Given the description of an element on the screen output the (x, y) to click on. 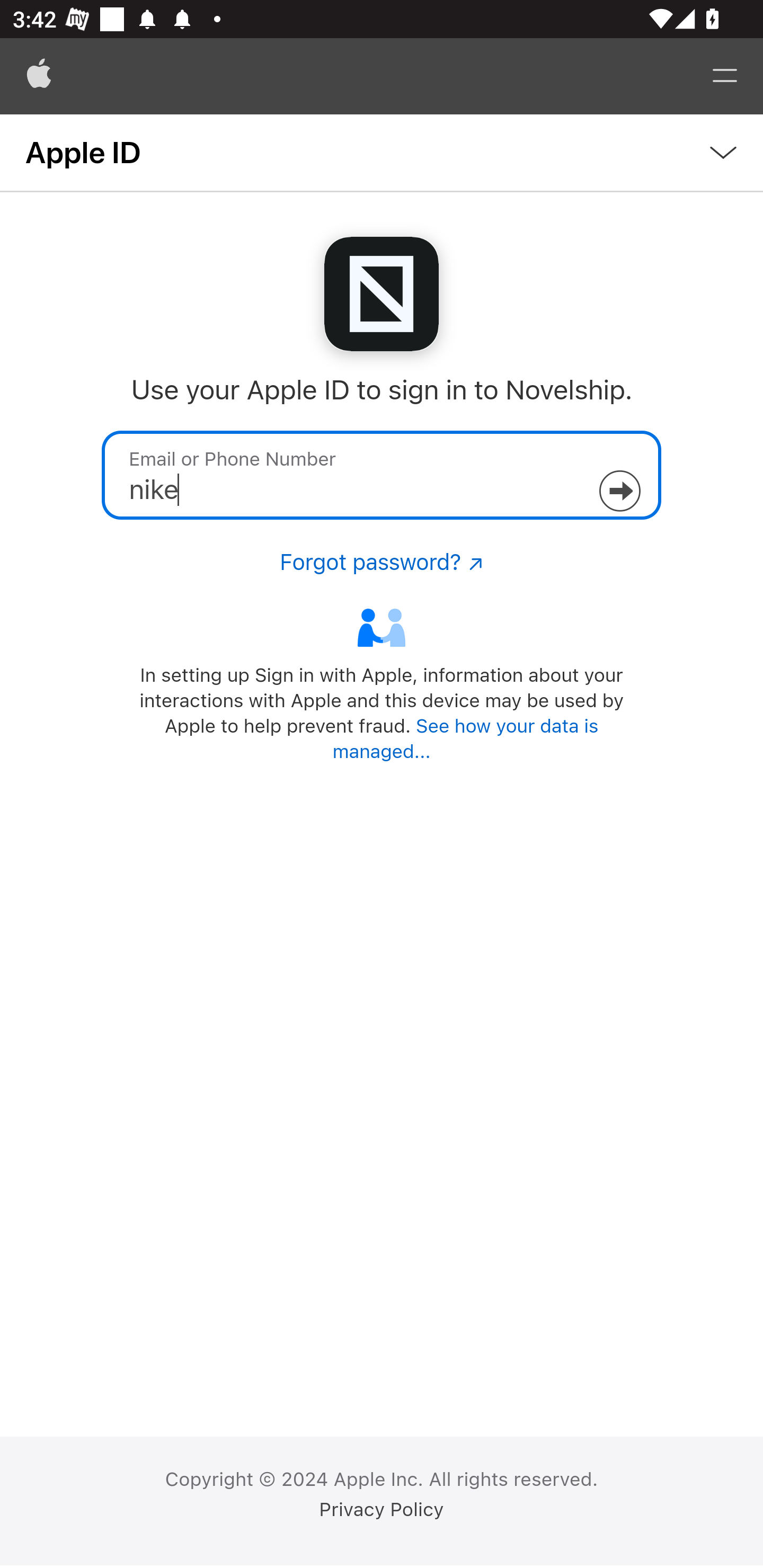
Apple (38, 75)
Menu (724, 75)
nike (381, 475)
Continue (618, 490)
Privacy Policy (381, 1509)
